Given the description of an element on the screen output the (x, y) to click on. 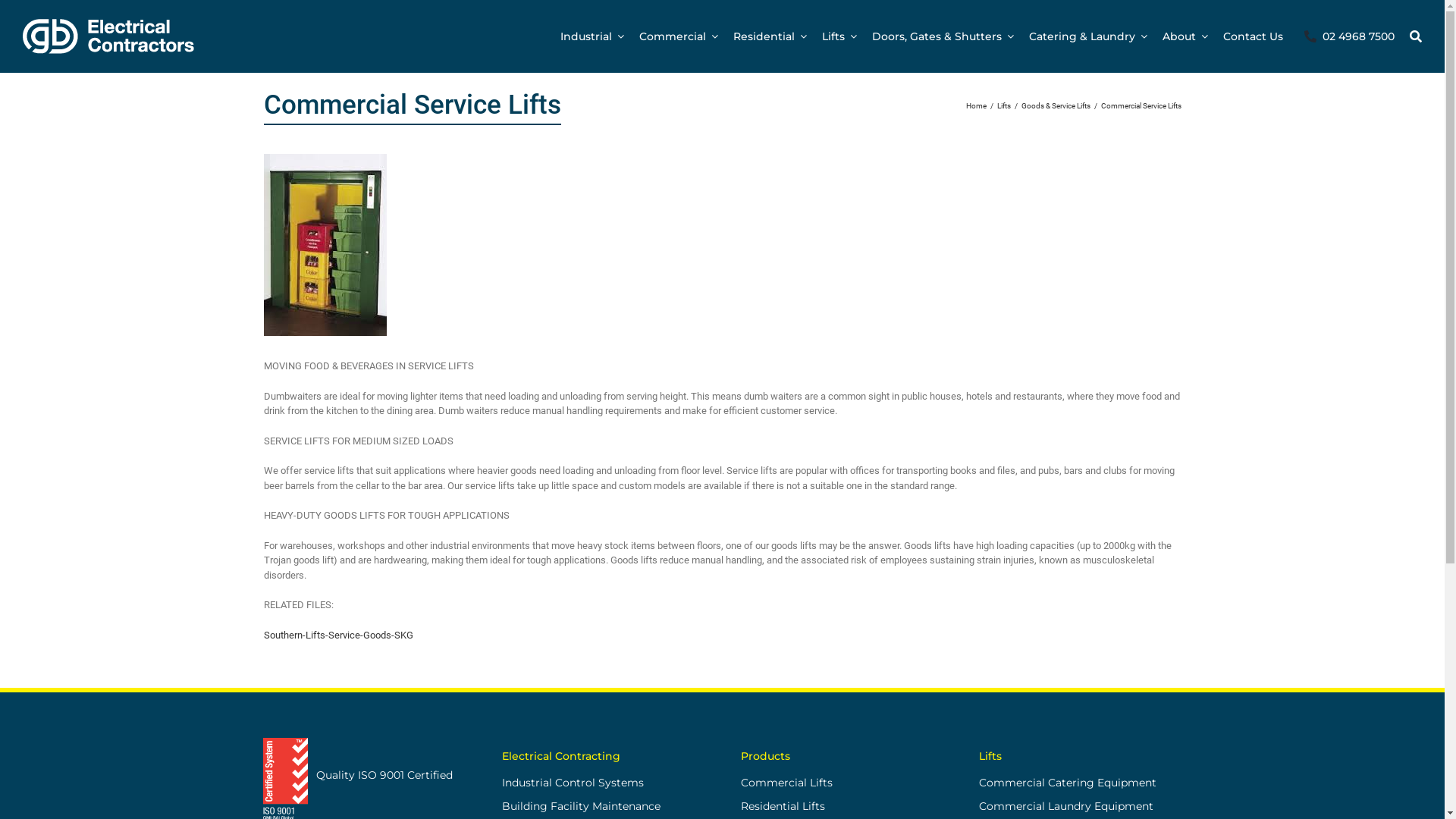
Commercial Laundry Equipment Element type: text (1079, 806)
02 4968 7500 Element type: text (1346, 36)
Search Element type: hover (1415, 36)
Residential Lifts Element type: text (841, 806)
Commercial Lifts Element type: text (841, 782)
Industrial Element type: text (592, 36)
Commercial Element type: text (678, 36)
Goods & Service Lifts Element type: text (1054, 105)
Contact Us Element type: text (1253, 36)
Commercial Catering Equipment Element type: text (1079, 782)
Residential Element type: text (769, 36)
Home Element type: text (976, 105)
About Element type: text (1185, 36)
Lifts Element type: text (1003, 105)
Building Facility Maintenance Element type: text (602, 806)
Catering & Laundry Element type: text (1088, 36)
Doors, Gates & Shutters Element type: text (942, 36)
Southern-Lifts-Service-Goods-SKG Element type: text (338, 634)
Lifts Element type: text (839, 36)
Industrial Control Systems Element type: text (602, 782)
